Given the description of an element on the screen output the (x, y) to click on. 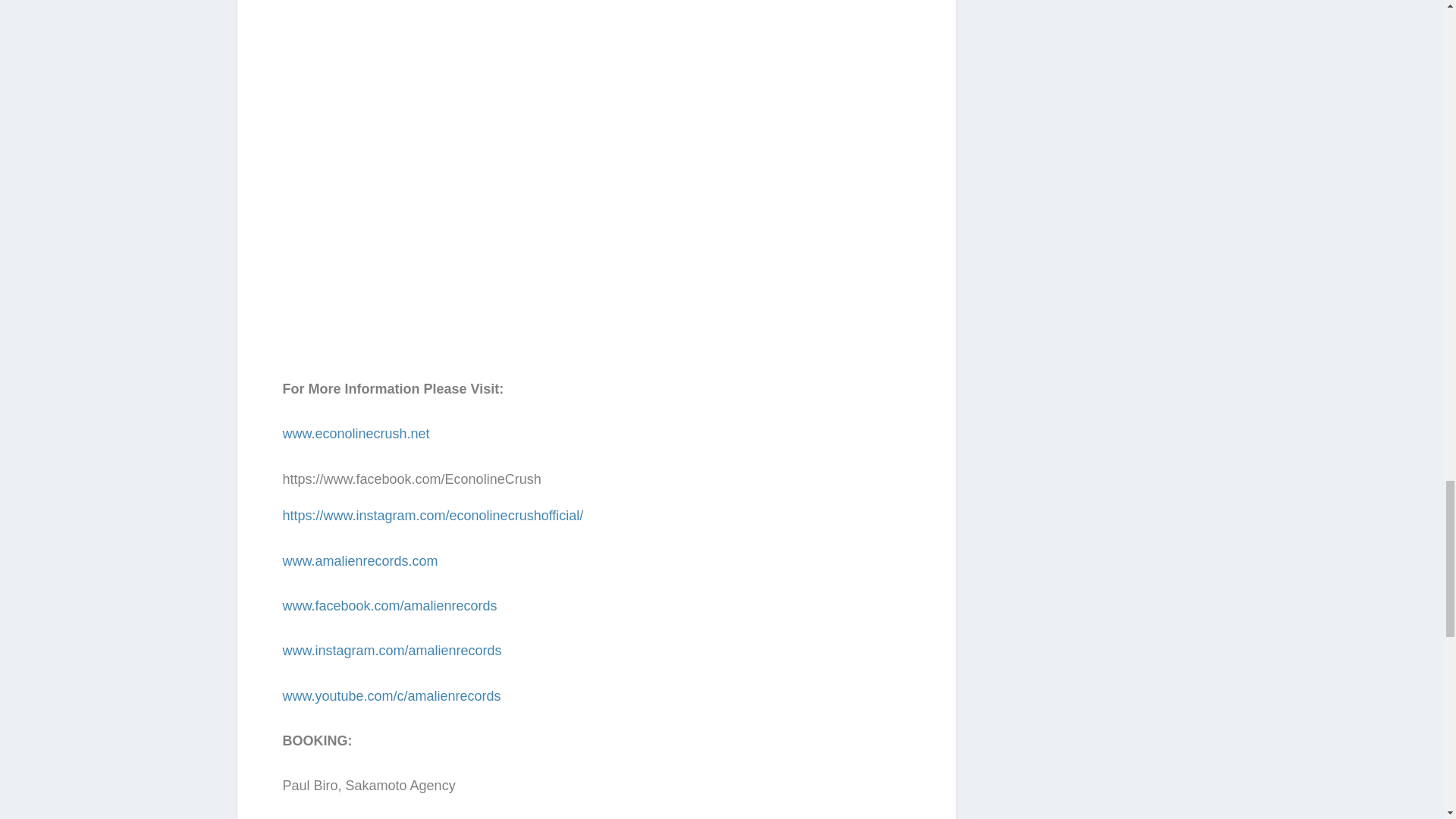
www.amalienrecords.com (360, 560)
www.econolinecrush.net (355, 433)
